Given the description of an element on the screen output the (x, y) to click on. 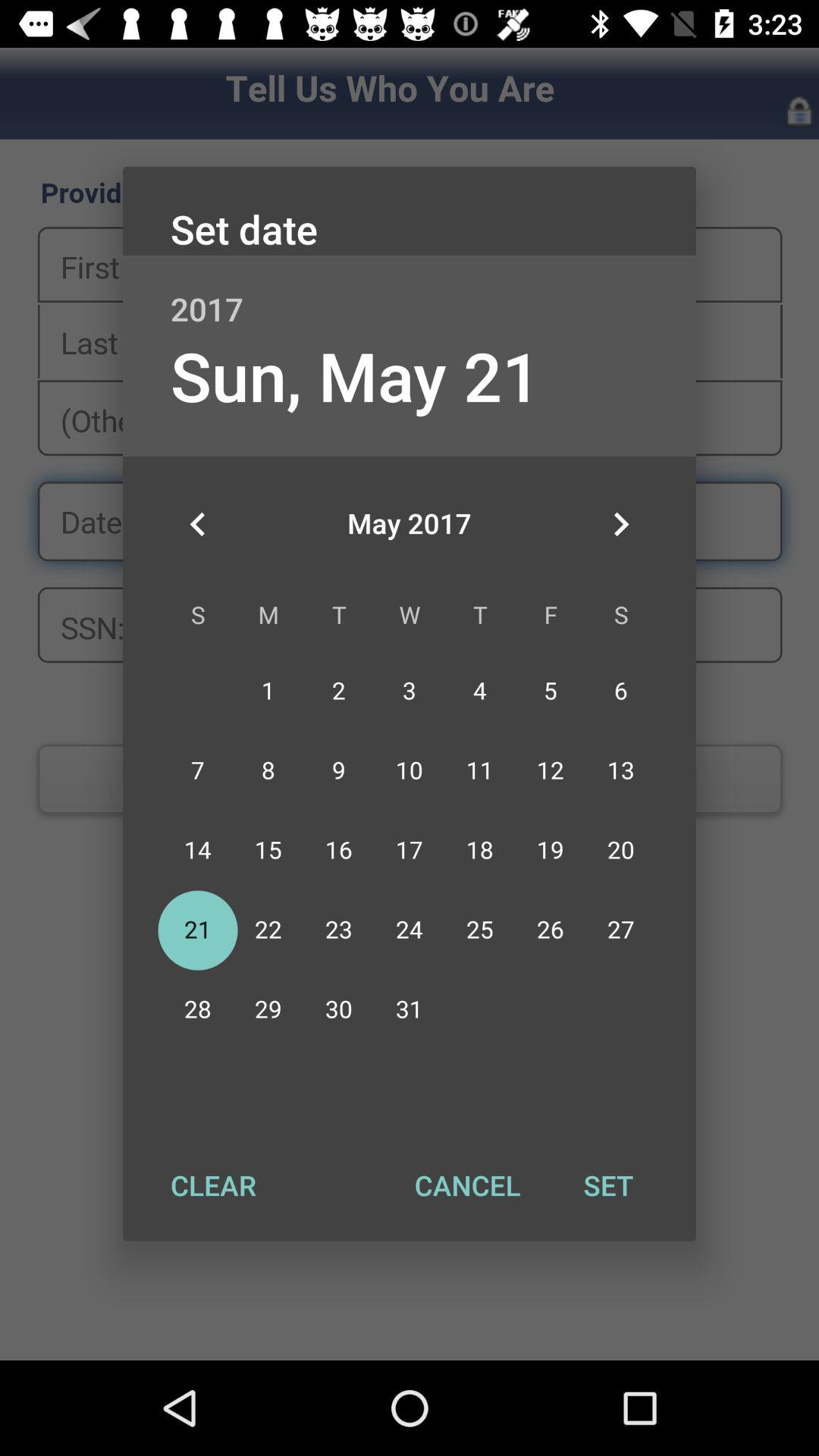
choose the app below 2017 app (620, 524)
